Given the description of an element on the screen output the (x, y) to click on. 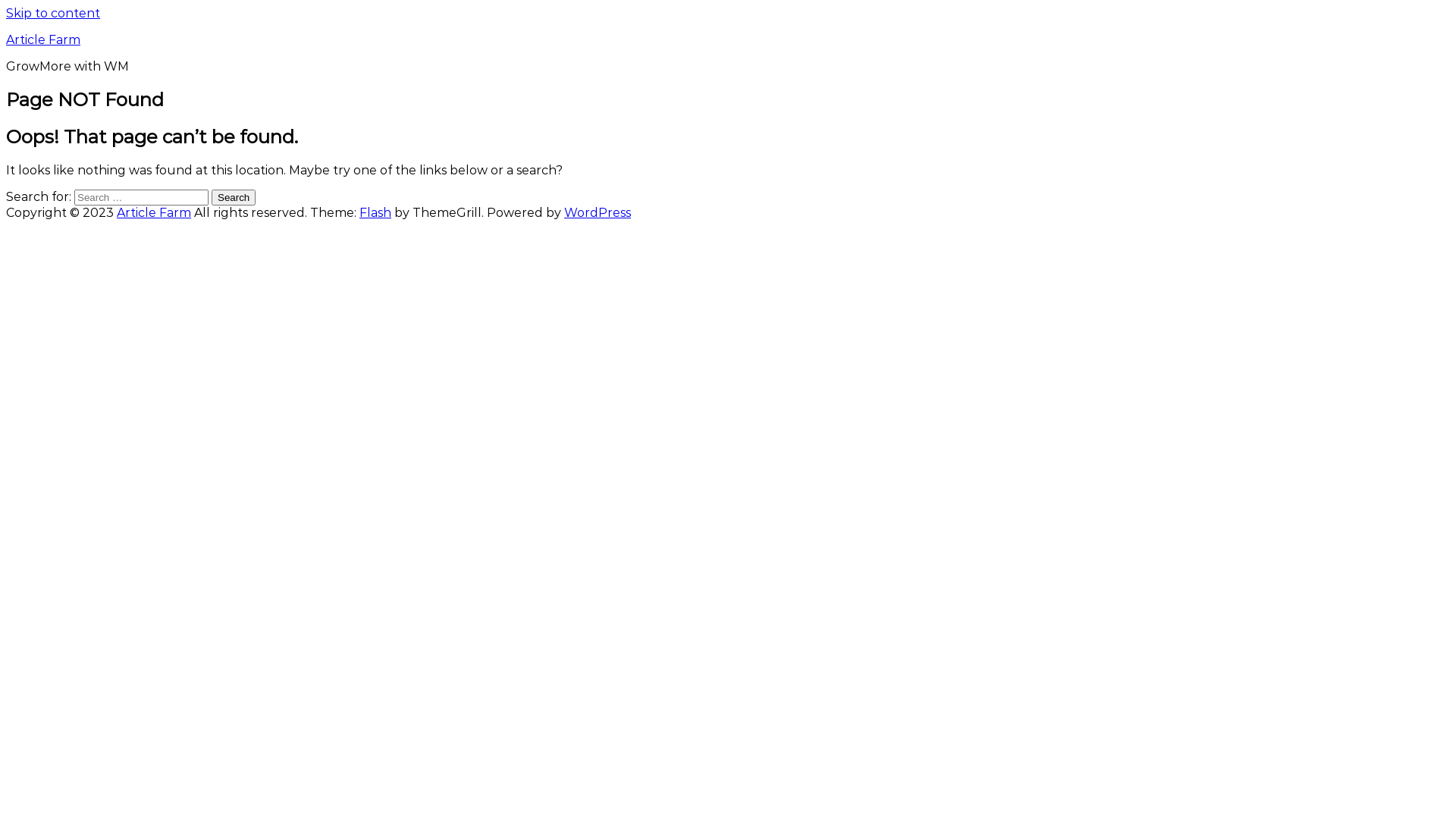
Article Farm Element type: text (153, 212)
Search Element type: text (233, 197)
Flash Element type: text (375, 212)
Skip to content Element type: text (53, 13)
WordPress Element type: text (597, 212)
Article Farm Element type: text (43, 39)
